Given the description of an element on the screen output the (x, y) to click on. 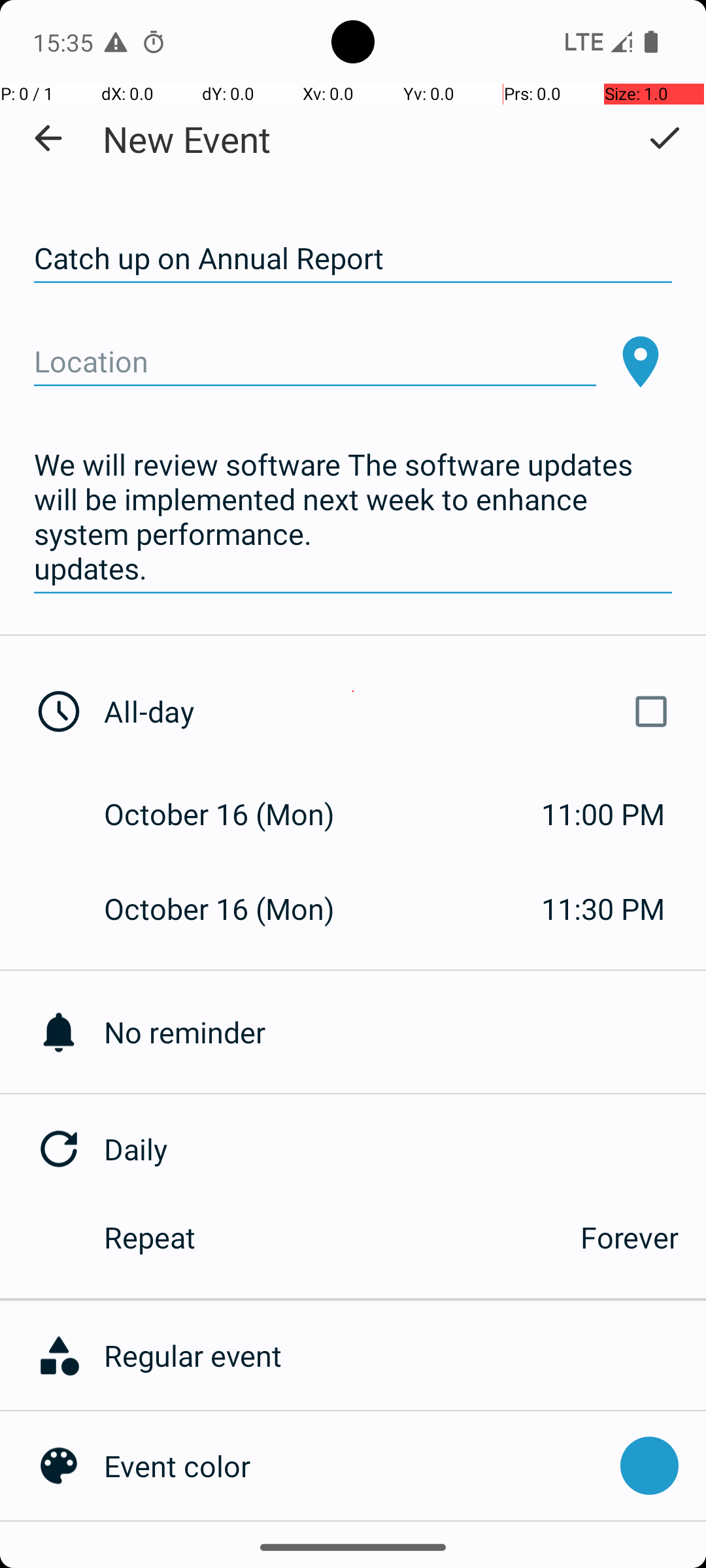
Catch up on Annual Report Element type: android.widget.EditText (352, 258)
We will review software The software updates will be implemented next week to enhance system performance.
updates. Element type: android.widget.EditText (352, 516)
October 16 (Mon) Element type: android.widget.TextView (232, 813)
11:00 PM Element type: android.widget.TextView (602, 813)
11:30 PM Element type: android.widget.TextView (602, 908)
Daily Element type: android.widget.TextView (404, 1148)
Repeat Element type: android.widget.TextView (328, 1236)
Forever Element type: android.widget.TextView (629, 1236)
